Given the description of an element on the screen output the (x, y) to click on. 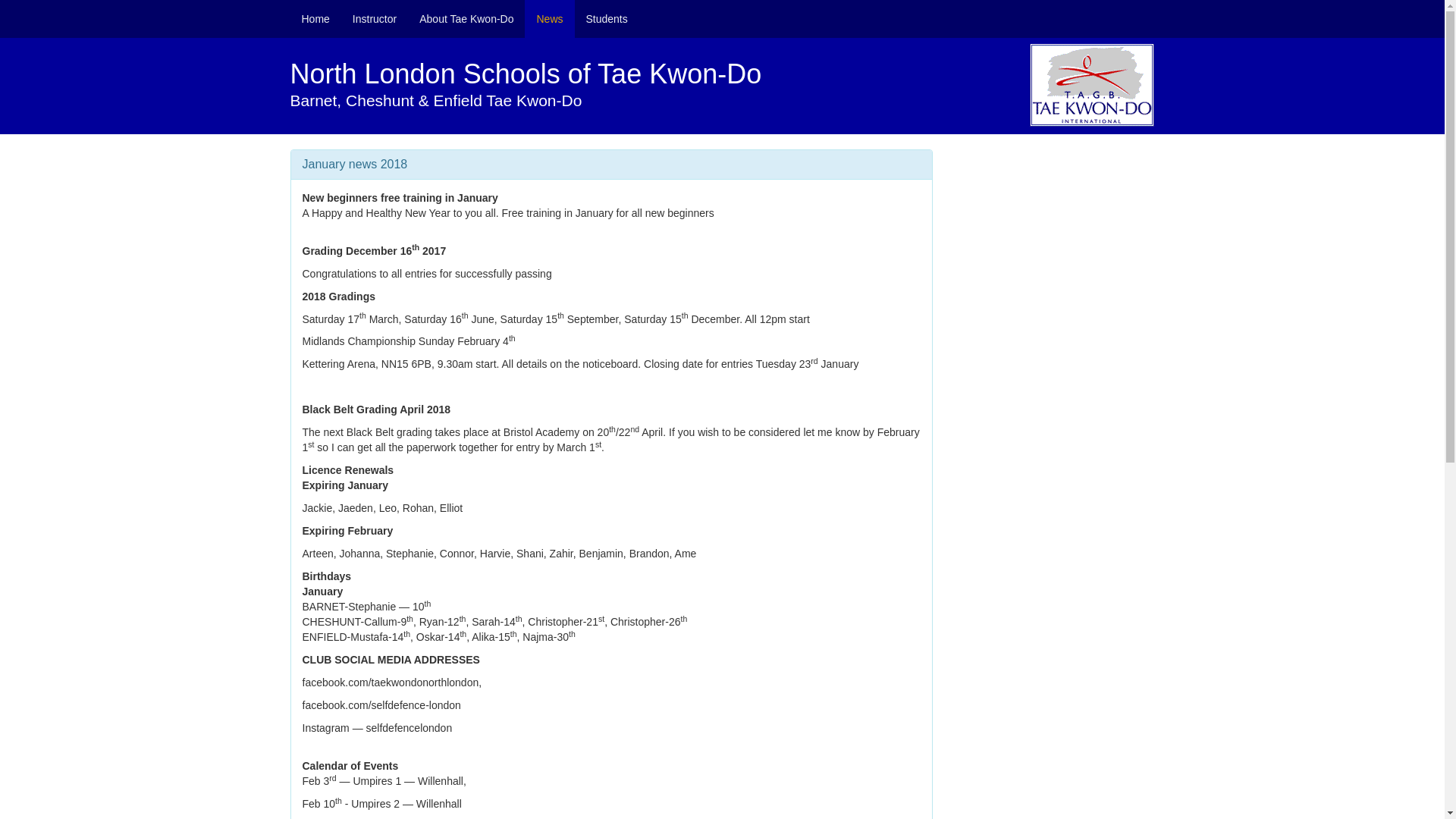
Instructor (373, 18)
News (548, 18)
Students (607, 18)
Home (314, 18)
About Tae Kwon-Do (465, 18)
